Given the description of an element on the screen output the (x, y) to click on. 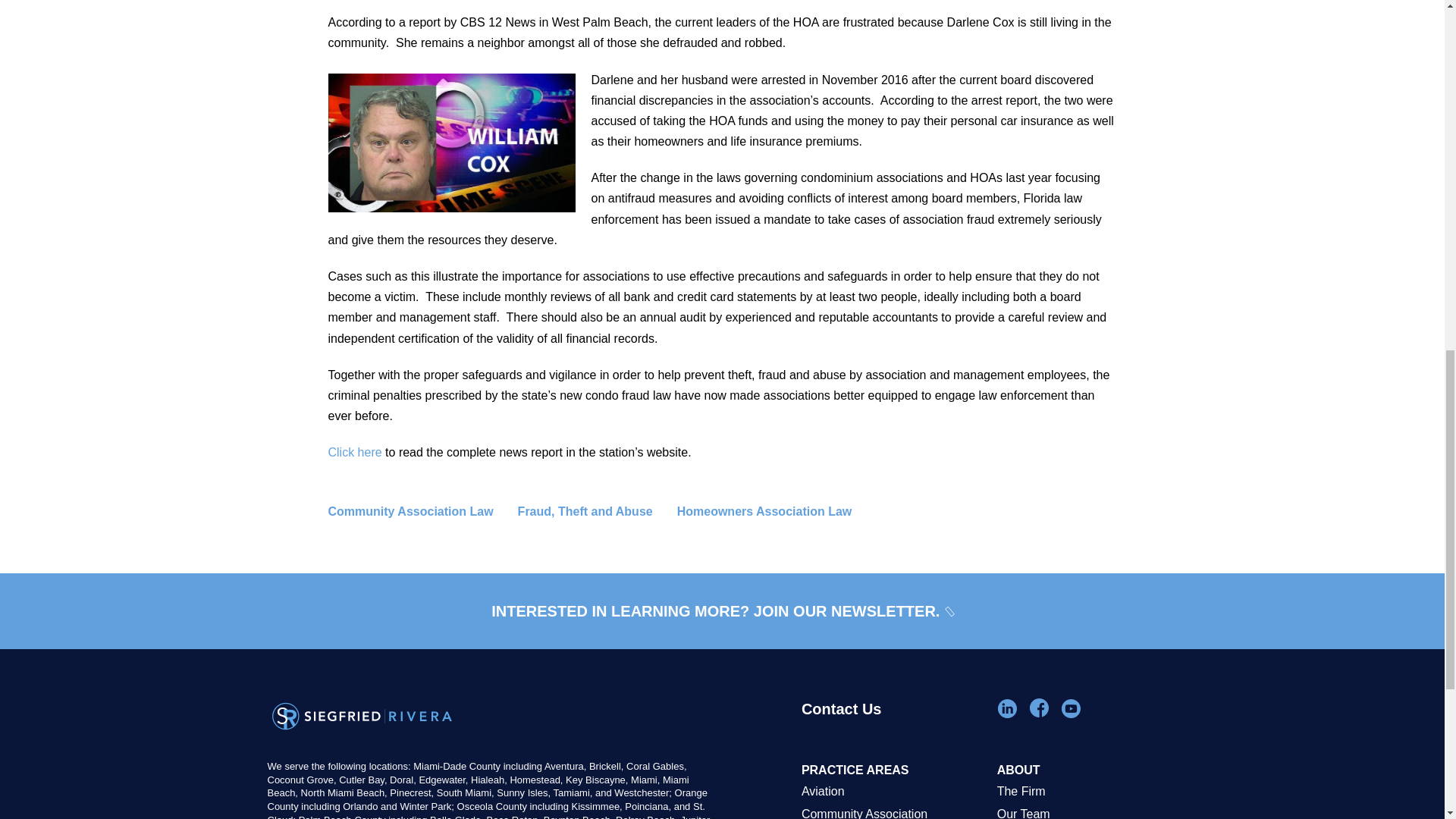
Contact Us (891, 729)
Community Association Law (421, 511)
Aviation (891, 791)
Click here (354, 451)
Homeowners Association Law (776, 511)
Fraud, Theft and Abuse (597, 511)
